Given the description of an element on the screen output the (x, y) to click on. 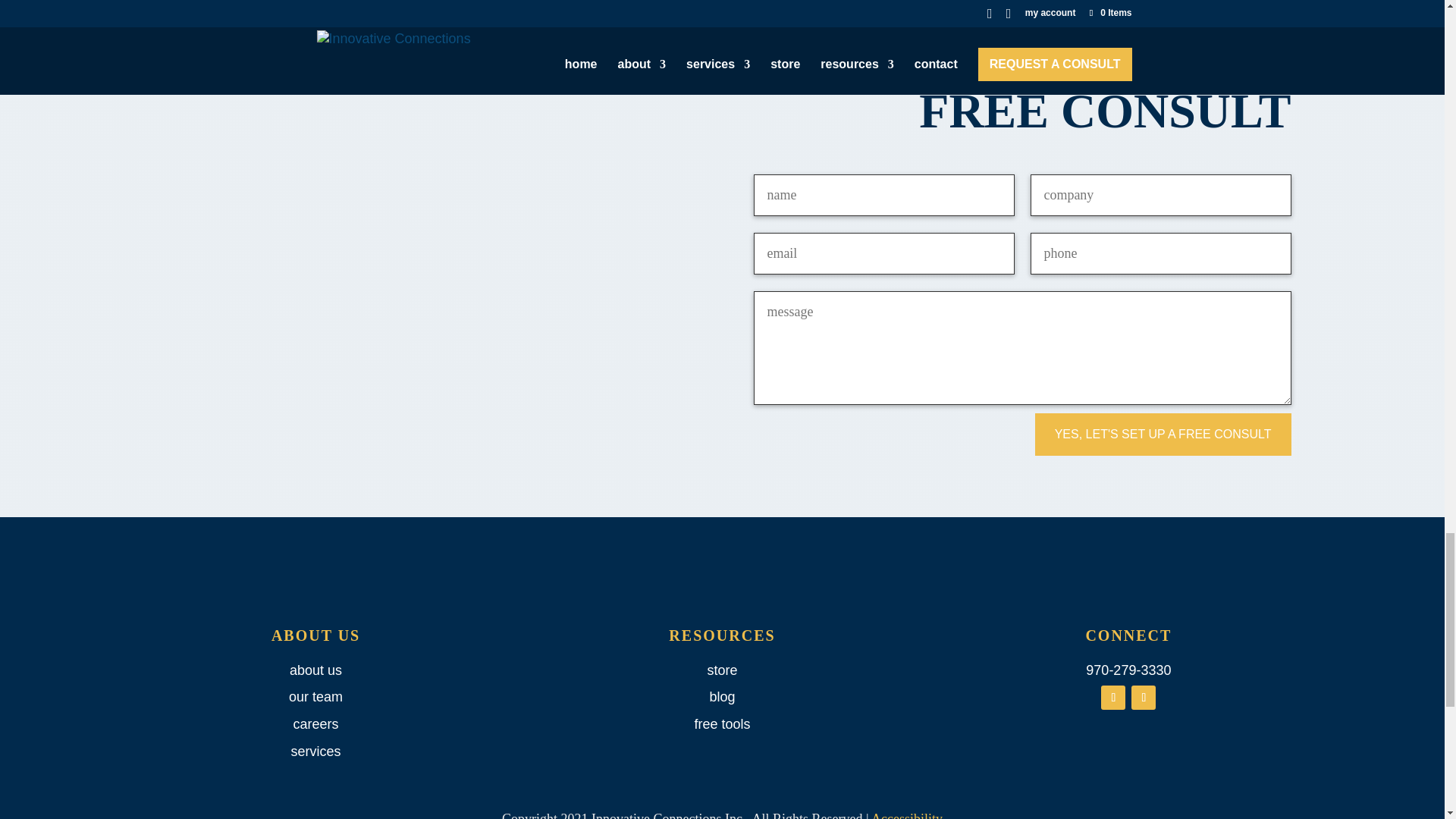
Follow on Facebook (1112, 697)
Follow on LinkedIn (1143, 697)
YES, LET'S SET UP A FREE CONSULT (1163, 433)
Accessibility (906, 815)
